Given the description of an element on the screen output the (x, y) to click on. 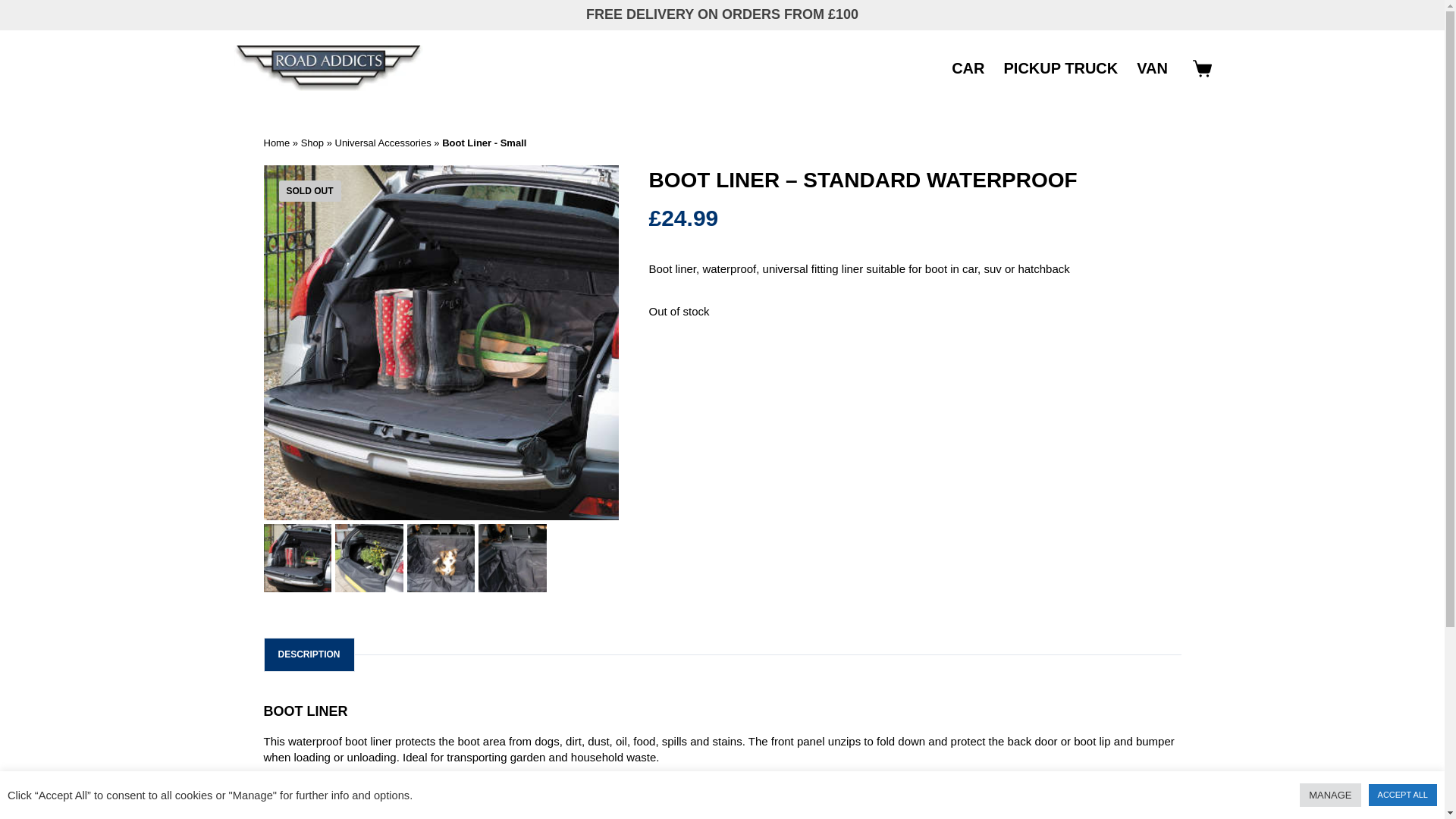
Skip to content (15, 7)
Boot Liner for SUV (297, 558)
Boot Liner for Car (441, 558)
ACCEPT ALL (1402, 794)
Boot Liner for SUV (440, 342)
MANAGE (1329, 794)
Home (276, 142)
Shopping cart (1201, 67)
Boot Liner for Hatchback (513, 558)
DESCRIPTION (308, 654)
